Given the description of an element on the screen output the (x, y) to click on. 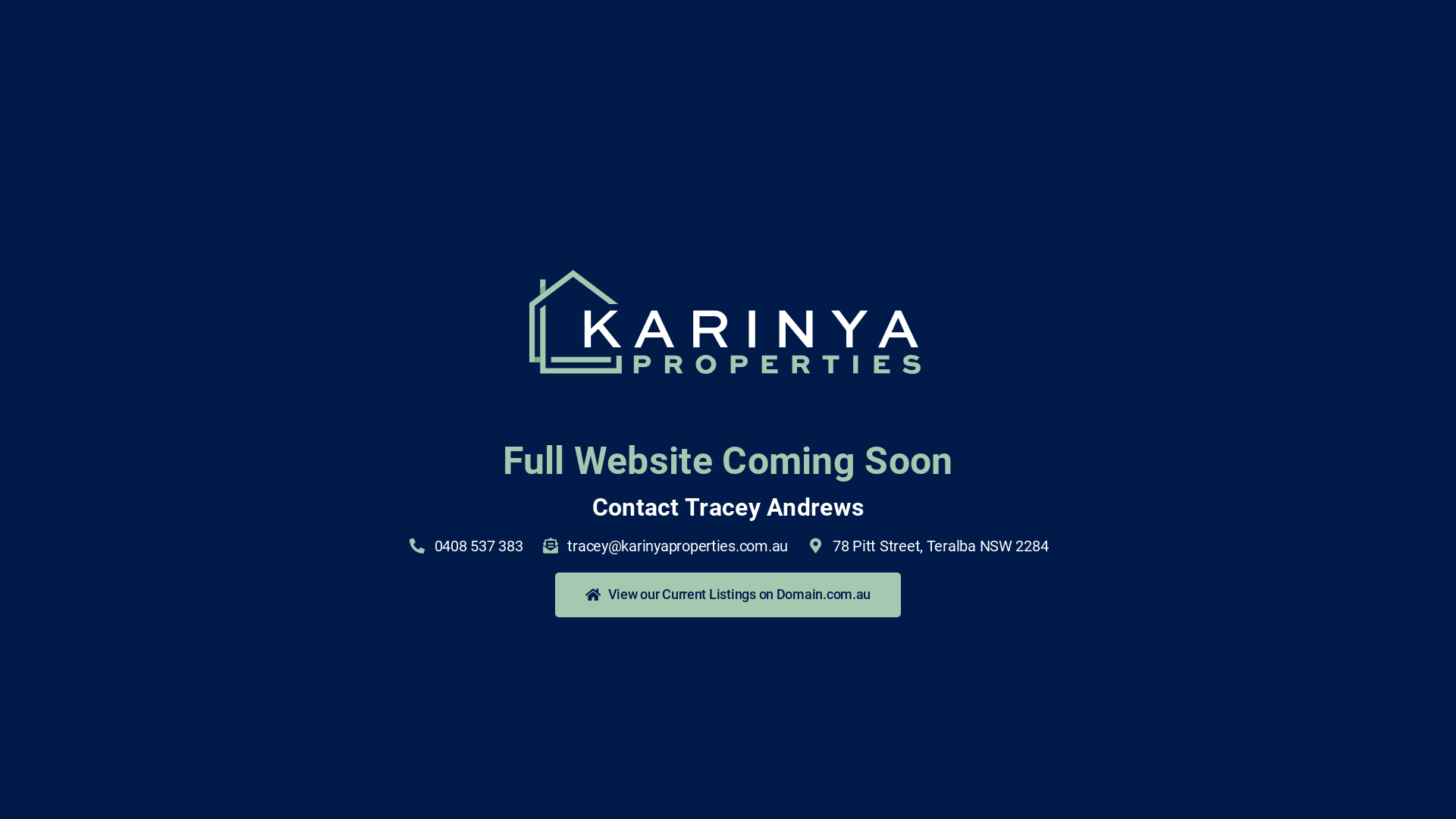
0408 537 383 Element type: text (465, 545)
78 Pitt Street, Teralba NSW 2284 Element type: text (927, 545)
View our Current Listings on Domain.com.au Element type: text (727, 594)
tracey@karinyaproperties.com.au Element type: text (663, 545)
